Given the description of an element on the screen output the (x, y) to click on. 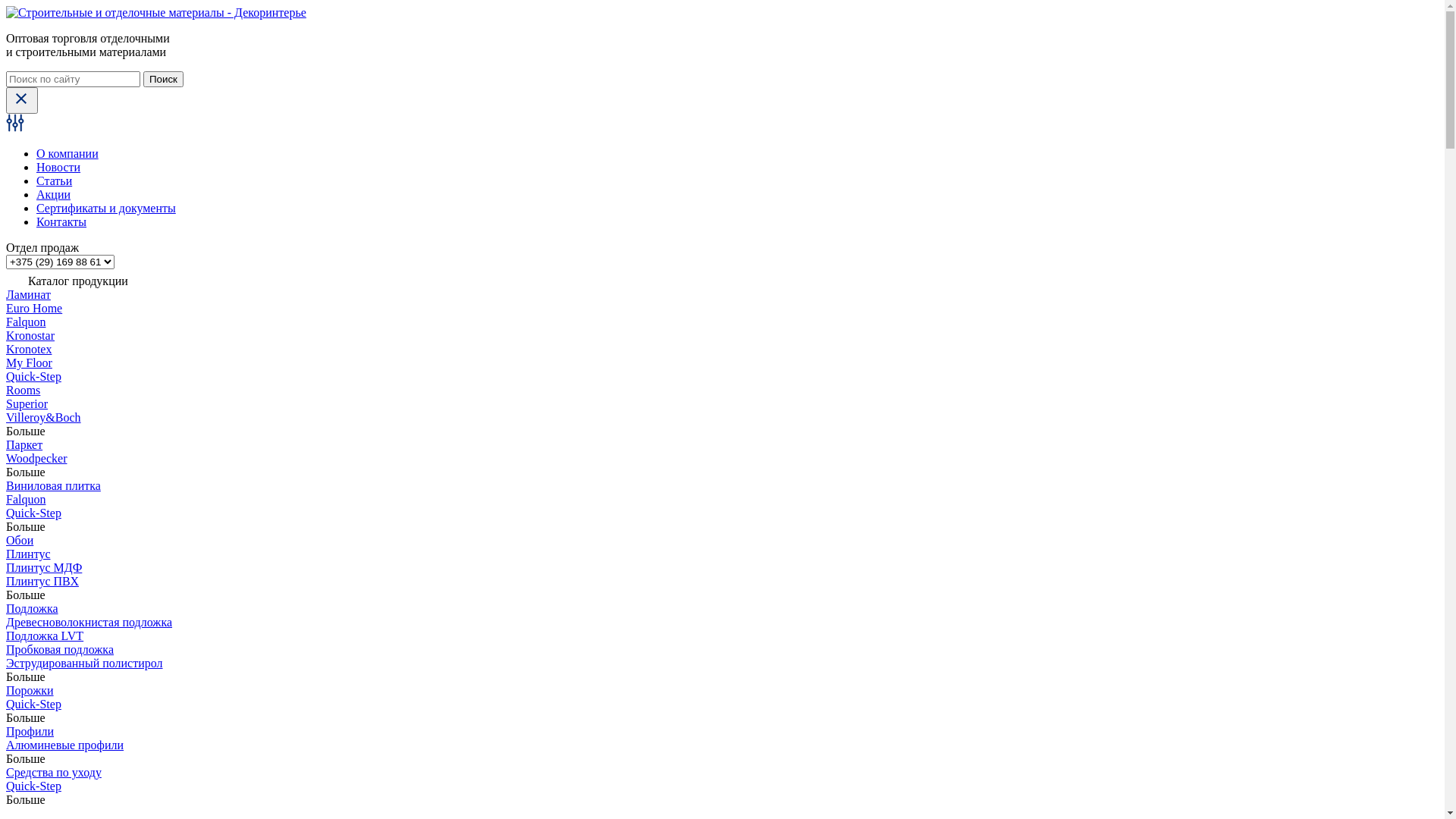
Villeroy&Boch Element type: text (43, 417)
Rooms Element type: text (23, 389)
Quick-Step Element type: text (33, 703)
Superior Element type: text (26, 403)
My Floor Element type: text (29, 362)
Falquon Element type: text (25, 498)
Kronostar Element type: text (30, 335)
Quick-Step Element type: text (33, 376)
Quick-Step Element type: text (33, 785)
Euro Home Element type: text (34, 307)
Kronotex Element type: text (28, 348)
Falquon Element type: text (25, 321)
Quick-Step Element type: text (33, 512)
Woodpecker Element type: text (36, 457)
